Given the description of an element on the screen output the (x, y) to click on. 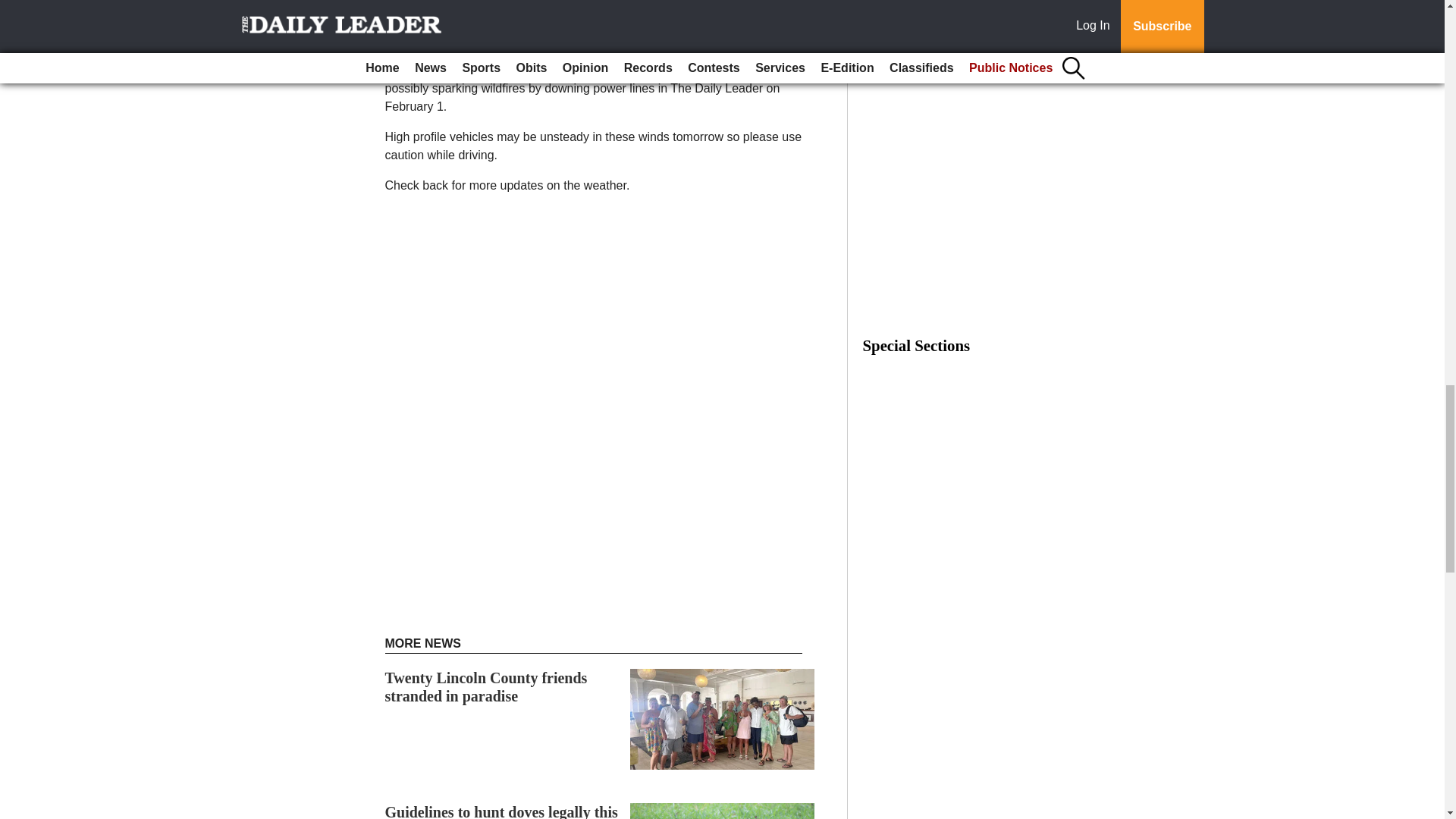
Guidelines to hunt doves legally this fall (501, 811)
Twenty Lincoln County friends stranded in paradise (486, 686)
Guidelines to hunt doves legally this fall (501, 811)
Twenty Lincoln County friends stranded in paradise (486, 686)
dead pines (732, 69)
